Given the description of an element on the screen output the (x, y) to click on. 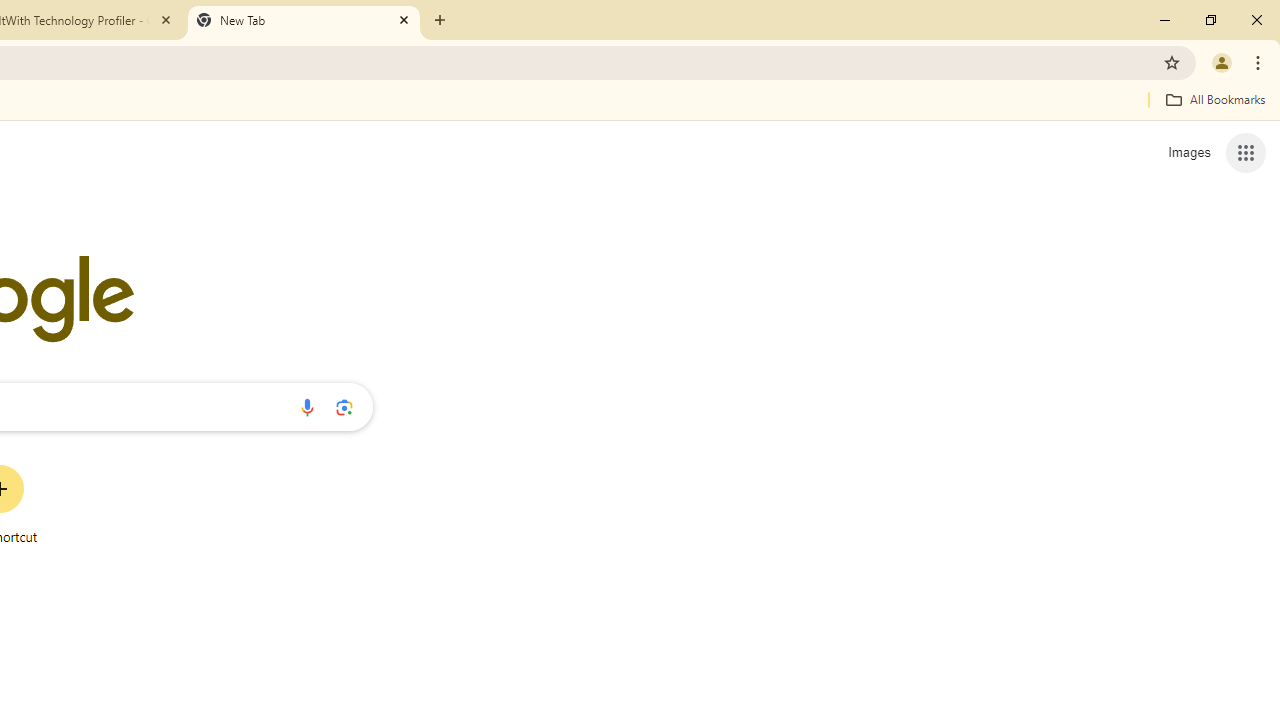
New Tab (304, 20)
